Given the description of an element on the screen output the (x, y) to click on. 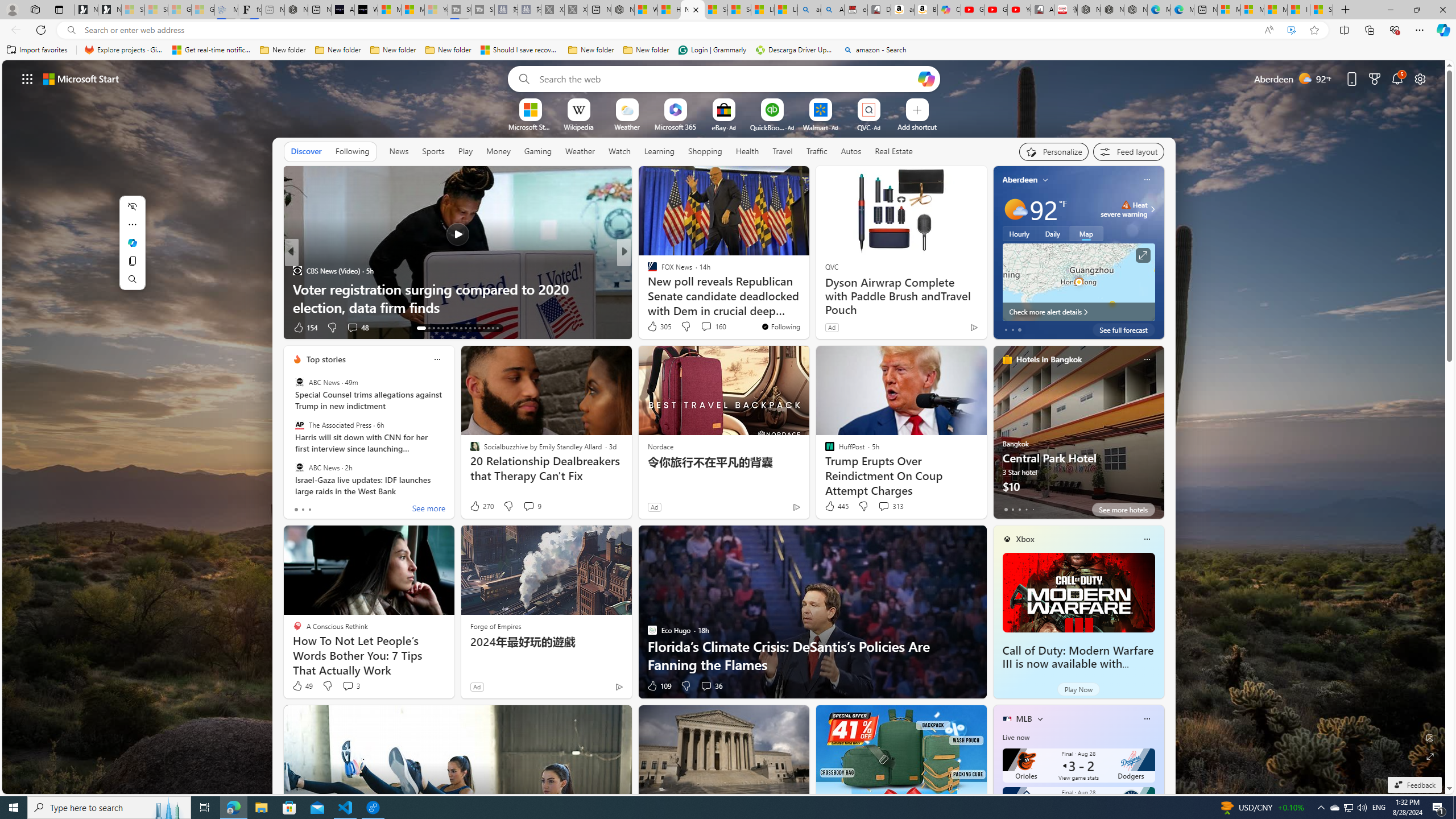
Hourly (1018, 233)
Edit Background (1430, 737)
Travel (782, 151)
View comments 160 Comment (712, 326)
3k Like (652, 327)
Mini menu on text selection (132, 242)
Huge shark washes ashore at New York City beach | Watch (668, 9)
Newsweek (647, 270)
next (1158, 252)
AutomationID: tab-21 (460, 328)
Hotels in Bangkok (1048, 359)
Xbox (1025, 538)
Autos (851, 151)
Health (746, 151)
